Given the description of an element on the screen output the (x, y) to click on. 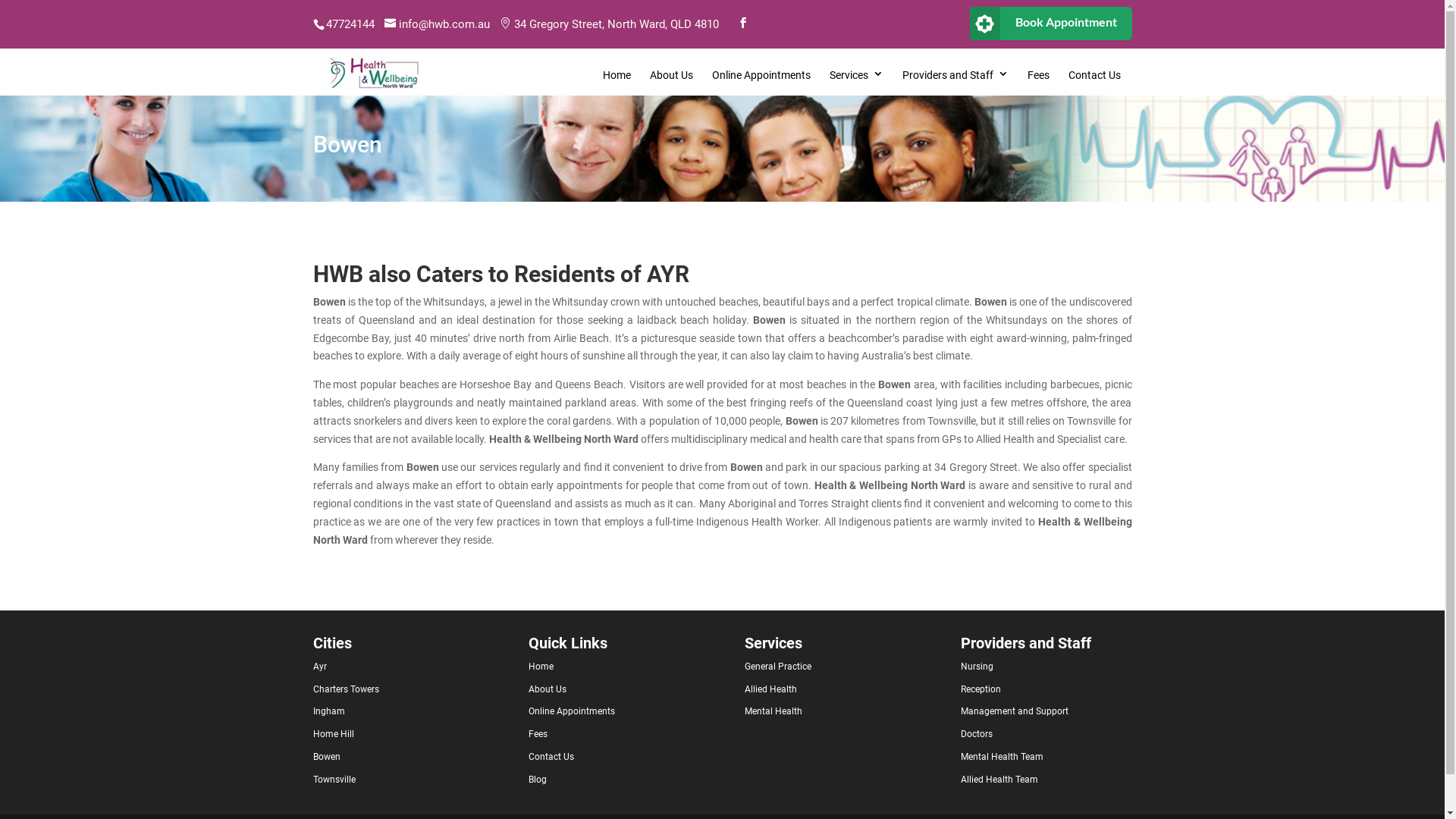
Townsville Element type: text (333, 779)
Online Appointments Element type: text (760, 76)
Nursing Element type: text (976, 666)
Providers and Staff Element type: text (1025, 642)
Allied Health Team Element type: text (999, 779)
Online Appointments Element type: text (571, 711)
Mental Health Team Element type: text (1001, 756)
Doctors Element type: text (976, 733)
General Practice Element type: text (777, 666)
47724144 Element type: text (350, 23)
About Us Element type: text (547, 689)
Fees Element type: text (1037, 76)
Book Appointment Element type: text (1050, 23)
Home Hill Element type: text (332, 733)
Allied Health Element type: text (770, 689)
Services Element type: text (773, 642)
Home Element type: text (540, 666)
Bowen Element type: text (325, 756)
Charters Towers Element type: text (345, 689)
About Us Element type: text (670, 76)
Contact Us Element type: text (1093, 76)
Contact Us Element type: text (551, 756)
info@hwb.com.au Element type: text (440, 22)
Home Element type: text (616, 76)
Providers and Staff Element type: text (955, 76)
Reception Element type: text (980, 689)
Ayr Element type: text (319, 666)
Ingham Element type: text (328, 711)
Mental Health Element type: text (773, 711)
Services Element type: text (856, 76)
Management and Support Element type: text (1014, 711)
Fees Element type: text (537, 733)
Blog Element type: text (537, 779)
